Given the description of an element on the screen output the (x, y) to click on. 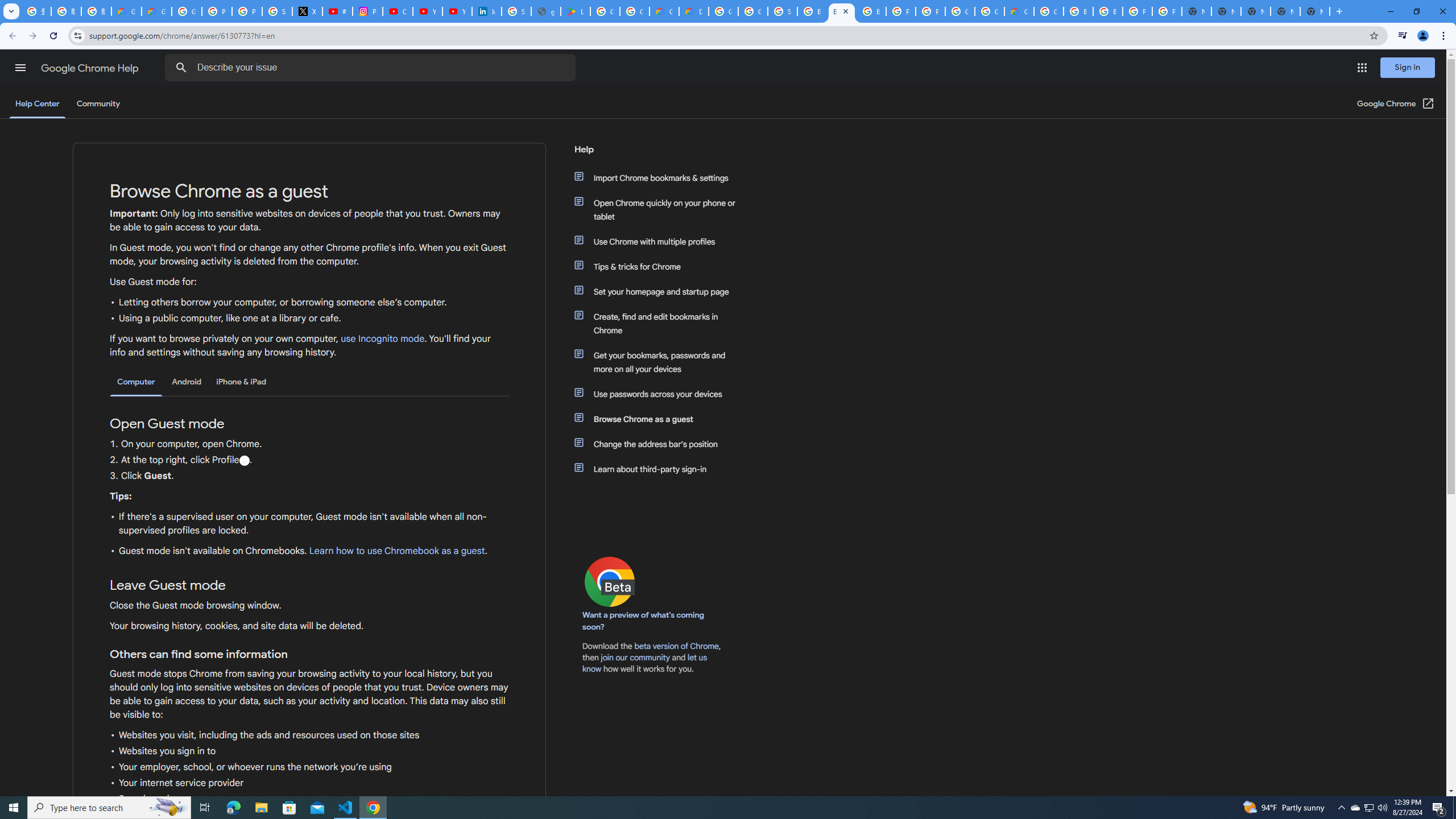
Want a preview of what's coming soon? (643, 621)
Sign in (1407, 67)
Forward (32, 35)
Google Workspace - Specific Terms (634, 11)
Create, find and edit bookmarks in Chrome (661, 323)
let us know (644, 663)
Browse Chrome as a guest - Computer - Google Chrome Help (871, 11)
YouTube Culture & Trends - YouTube Top 10, 2021 (456, 11)
Back (10, 35)
Bookmark this tab (1373, 35)
Google Cloud Platform (1048, 11)
